Given the description of an element on the screen output the (x, y) to click on. 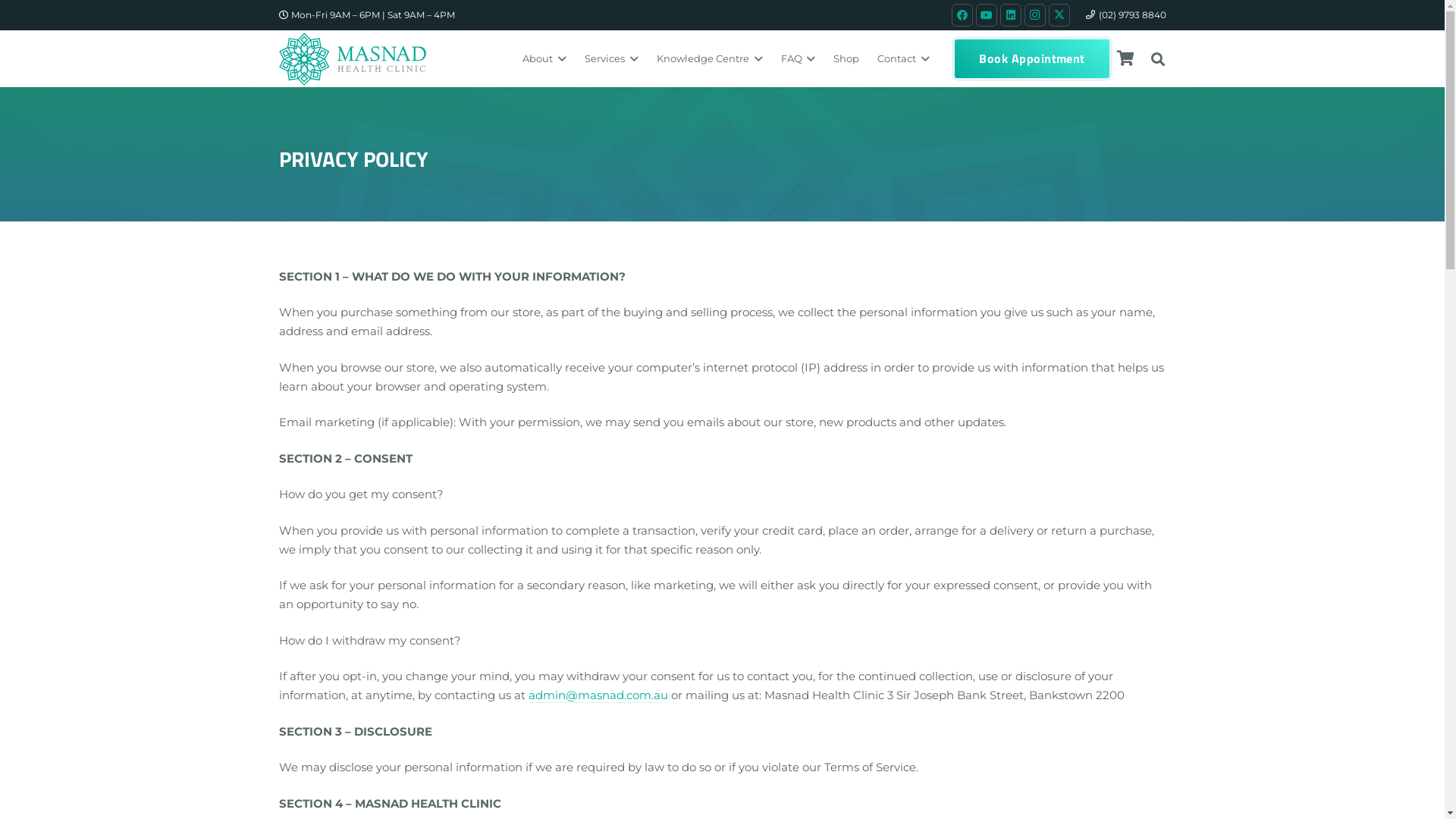
Services Element type: text (611, 58)
Shop Element type: text (846, 58)
LinkedIn Element type: hover (1010, 14)
Contact Element type: text (903, 58)
Knowledge Centre Element type: text (709, 58)
FAQ Element type: text (798, 58)
Instagram Element type: hover (1034, 14)
Facebook Element type: hover (961, 14)
Twitter Element type: hover (1059, 14)
Book Appointment Element type: text (1031, 58)
About Element type: text (544, 58)
(02) 9793 8840 Element type: text (1125, 14)
YouTube Element type: hover (986, 14)
admin@masnad.com.au Element type: text (597, 694)
